Given the description of an element on the screen output the (x, y) to click on. 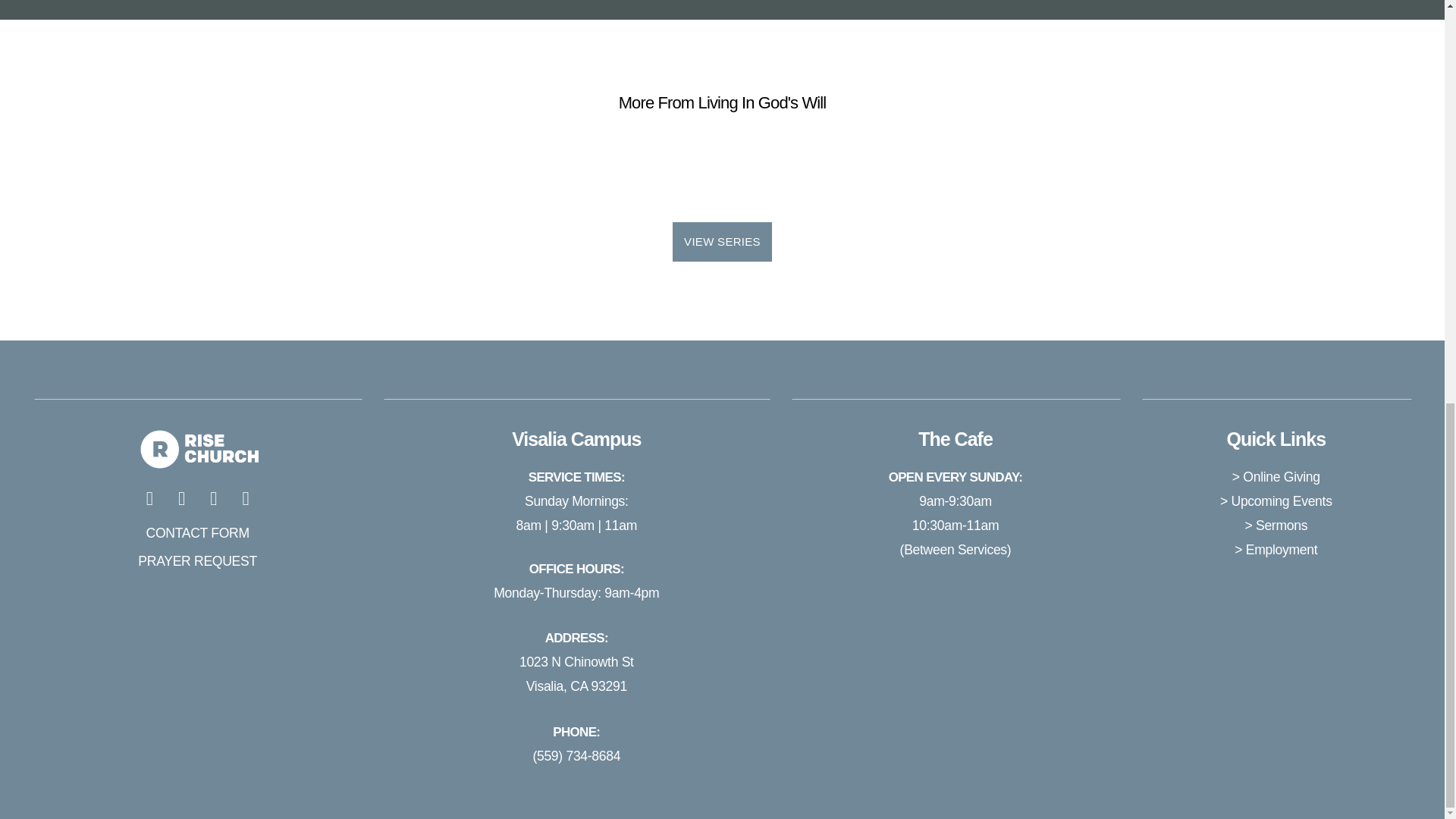
CONTACT FORM (196, 532)
VIEW SERIES (721, 241)
PRAYER REQUEST (197, 560)
